Given the description of an element on the screen output the (x, y) to click on. 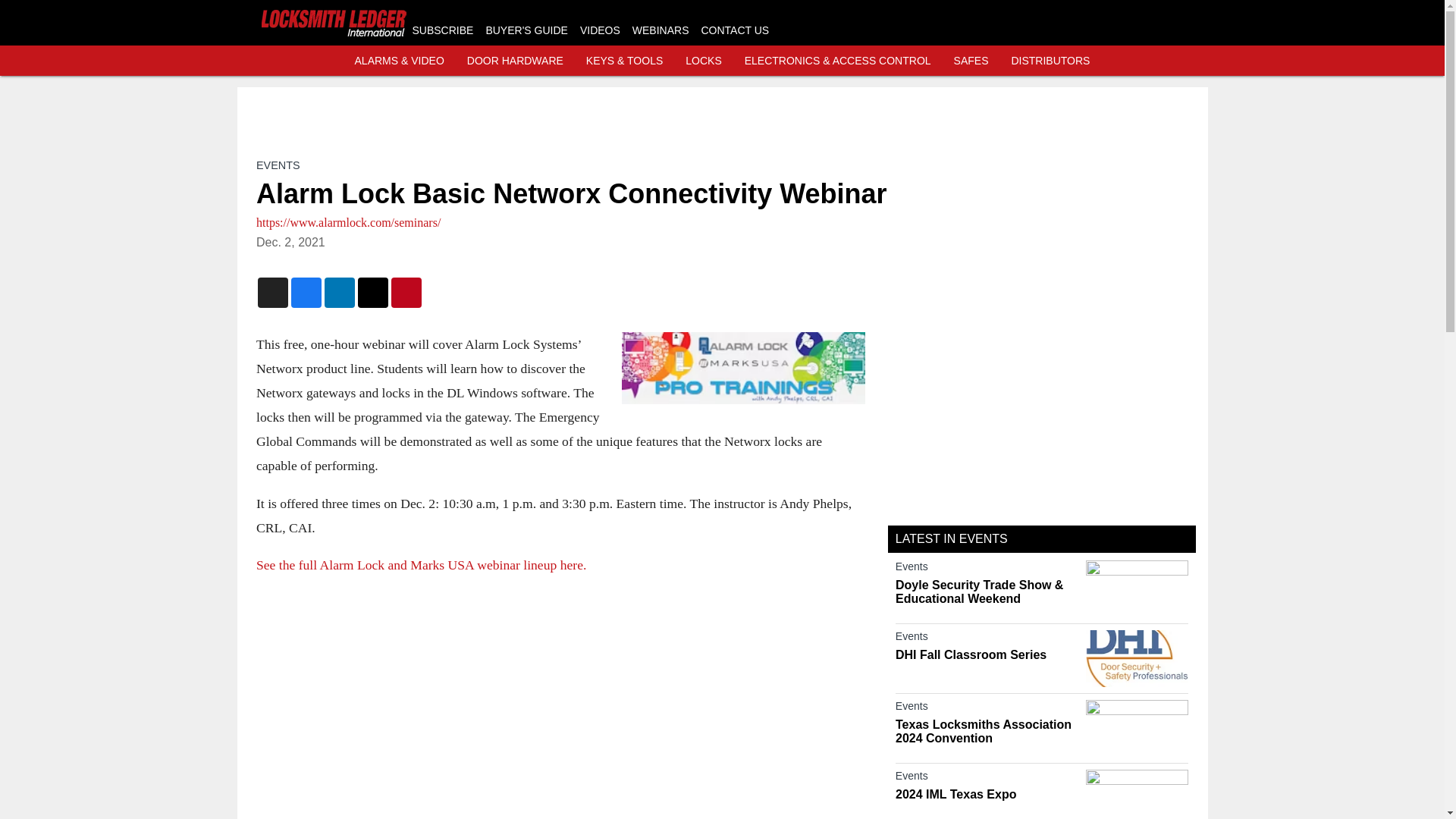
EVENTS (277, 164)
Events (986, 569)
LATEST IN EVENTS (951, 538)
2024 IML Texas Expo (986, 794)
Events (986, 778)
WEBINARS (659, 30)
Events (986, 638)
See the full Alarm Lock and Marks USA webinar lineup here. (421, 564)
SUBSCRIBE (443, 30)
DHI Fall Classroom Series (986, 654)
DOOR HARDWARE (515, 60)
Events (986, 709)
SAFES (970, 60)
Online Training Header Al Mx 619ba792b4d46 (742, 368)
LOCKS (702, 60)
